Given the description of an element on the screen output the (x, y) to click on. 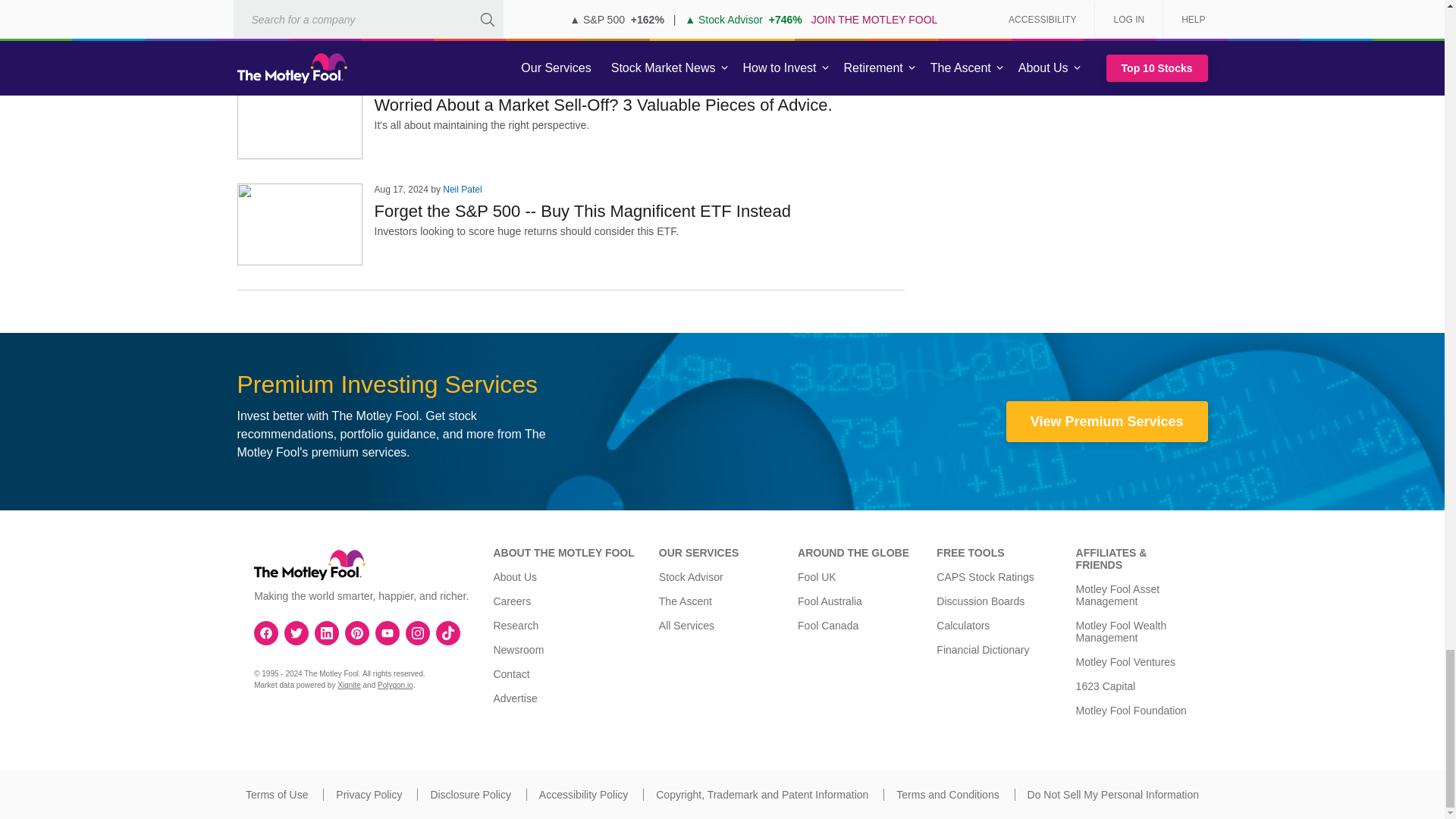
Disclosure Policy (470, 794)
Terms of Use (276, 794)
Privacy Policy (368, 794)
Copyright, Trademark and Patent Information (761, 794)
Accessibility Policy (582, 794)
Terms and Conditions (947, 794)
Do Not Sell My Personal Information. (1112, 794)
